Given the description of an element on the screen output the (x, y) to click on. 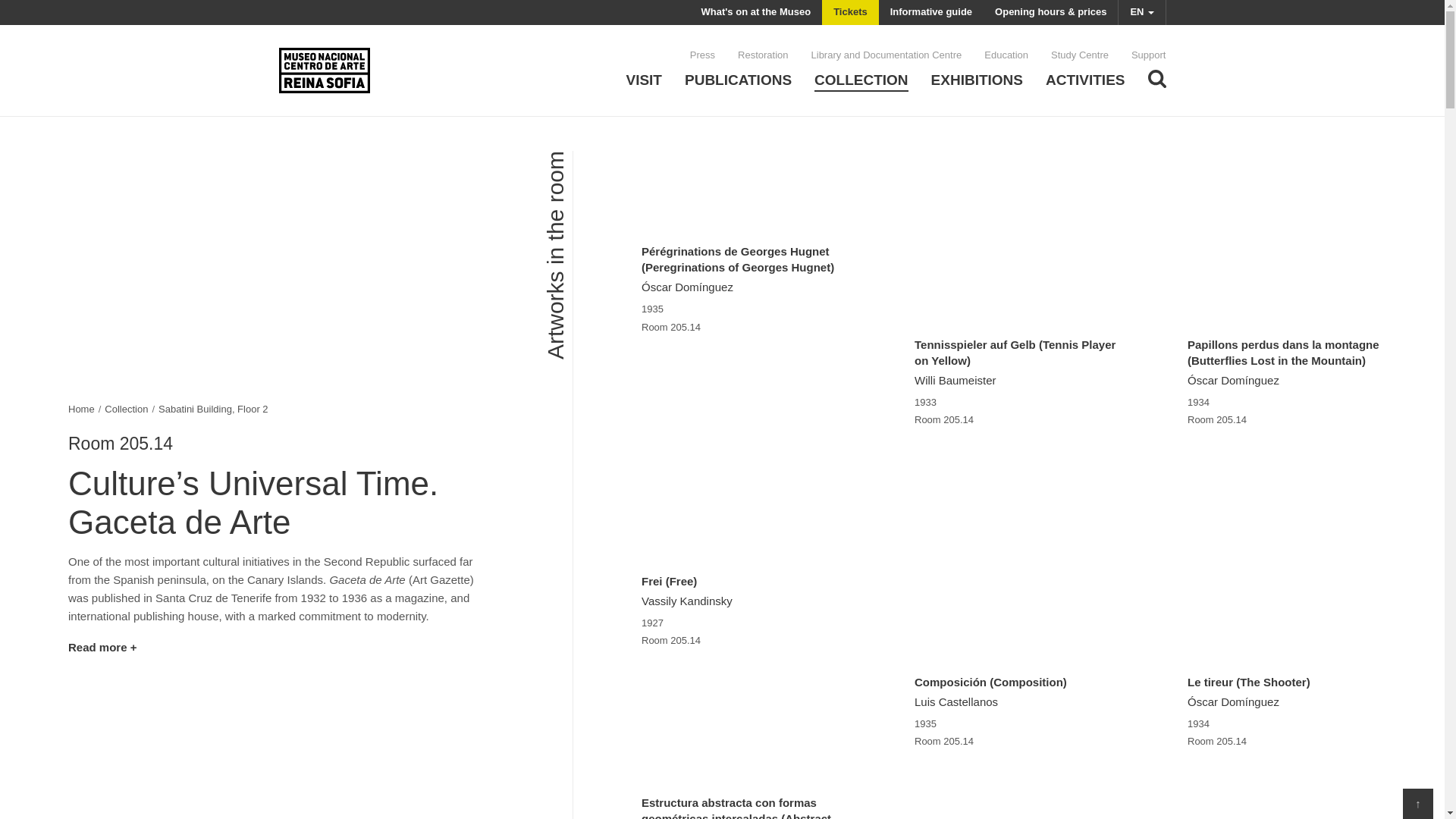
VISIT (644, 81)
What's on at the Museo (755, 12)
Restoration (762, 55)
PUBLICATIONS (738, 81)
EXHIBITIONS (977, 81)
Press (702, 55)
EN (1142, 12)
Informative guide (931, 12)
Informative guide (931, 12)
Buy tickets (850, 12)
